Given the description of an element on the screen output the (x, y) to click on. 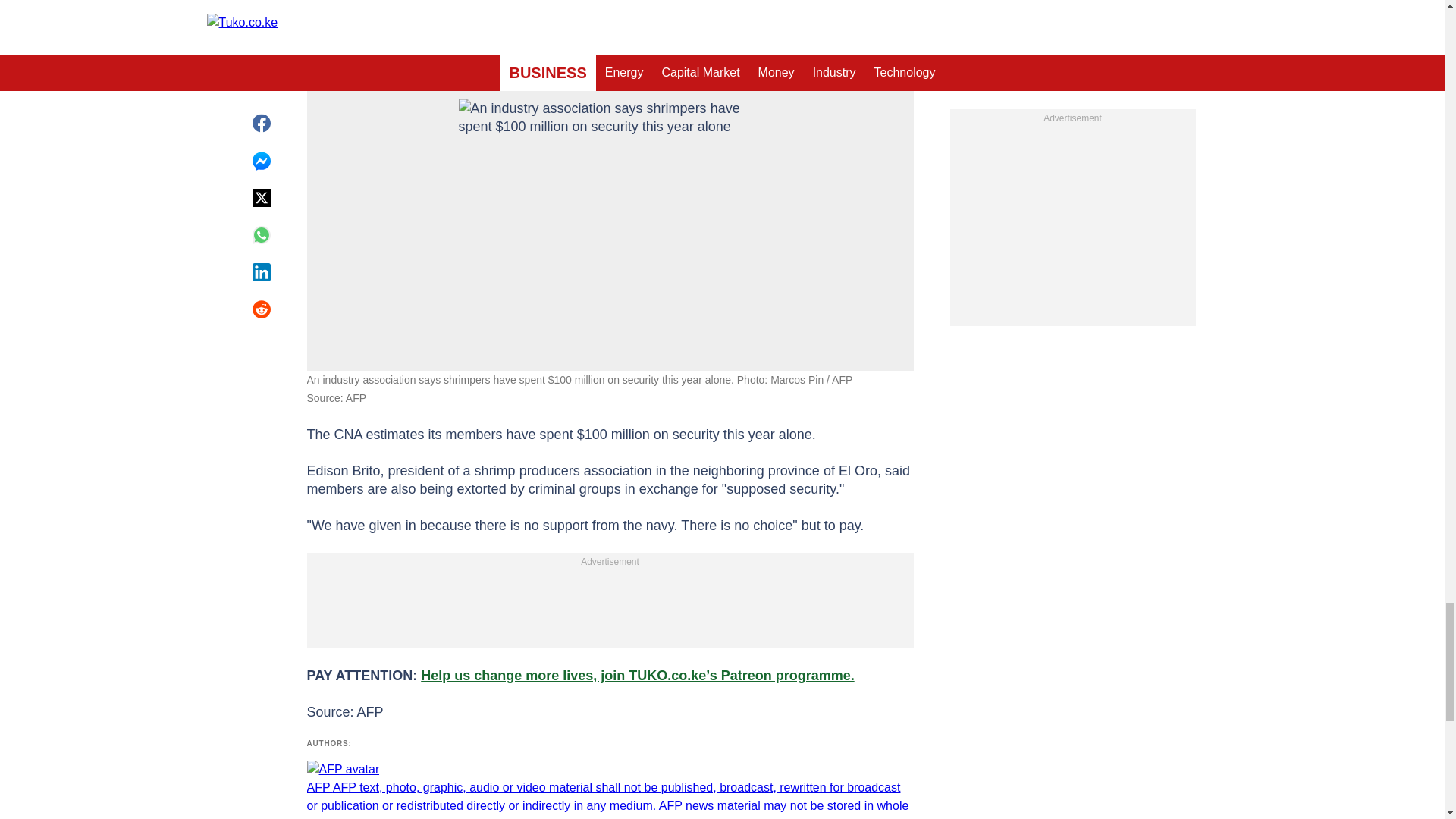
Author page (608, 789)
Expand image (895, 47)
